Given the description of an element on the screen output the (x, y) to click on. 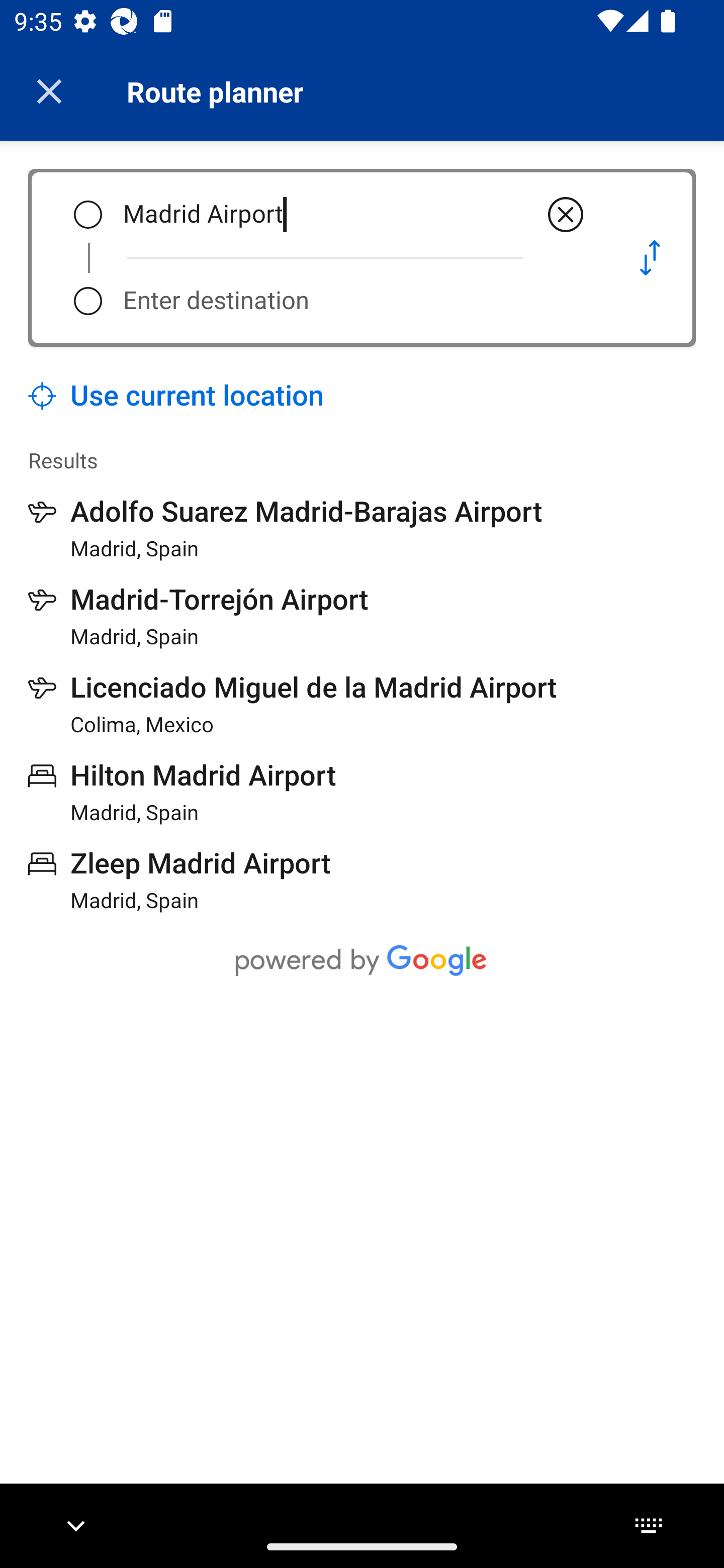
Close (49, 91)
Madrid Airport Clear (355, 214)
Clear (565, 214)
Swap pick-up location and destination (650, 257)
Enter destination (355, 300)
Use current location (176, 395)
Adolfo Suarez Madrid-Barajas Airport Madrid, Spain (285, 528)
Madrid-Torrejón Airport Madrid, Spain (198, 615)
Hilton Madrid Airport Madrid, Spain (182, 791)
Zleep Madrid Airport Madrid, Spain (179, 879)
